Given the description of an element on the screen output the (x, y) to click on. 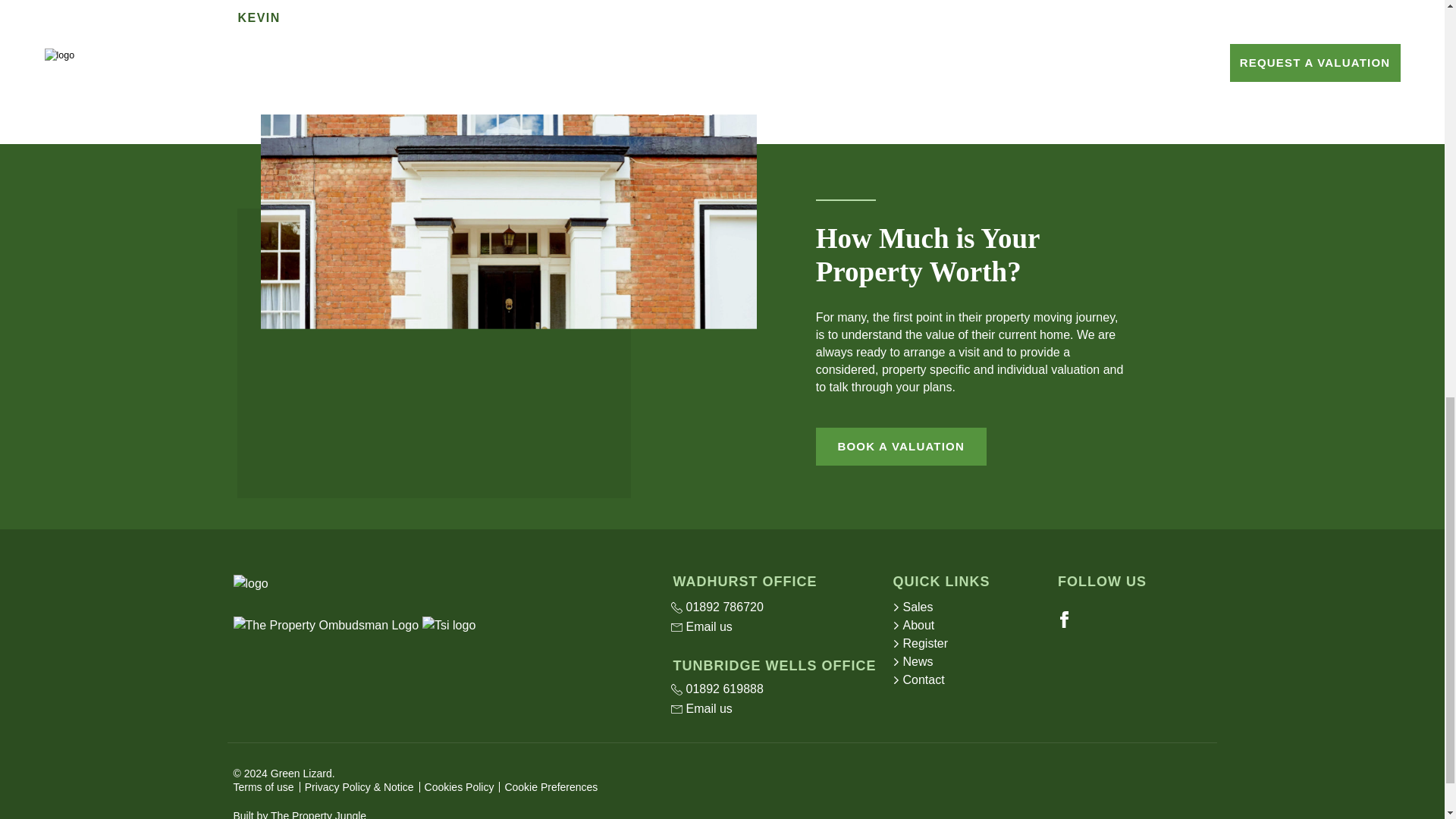
Email us (771, 709)
Cookies Policy (460, 787)
Email us (771, 627)
Contact (969, 679)
About (969, 625)
01892 786720 (771, 607)
Register (969, 643)
BOOK A VALUATION (901, 446)
News (969, 661)
01892 619888 (771, 689)
Cookie Preferences (549, 787)
Terms of use (263, 787)
Sales (969, 607)
